Given the description of an element on the screen output the (x, y) to click on. 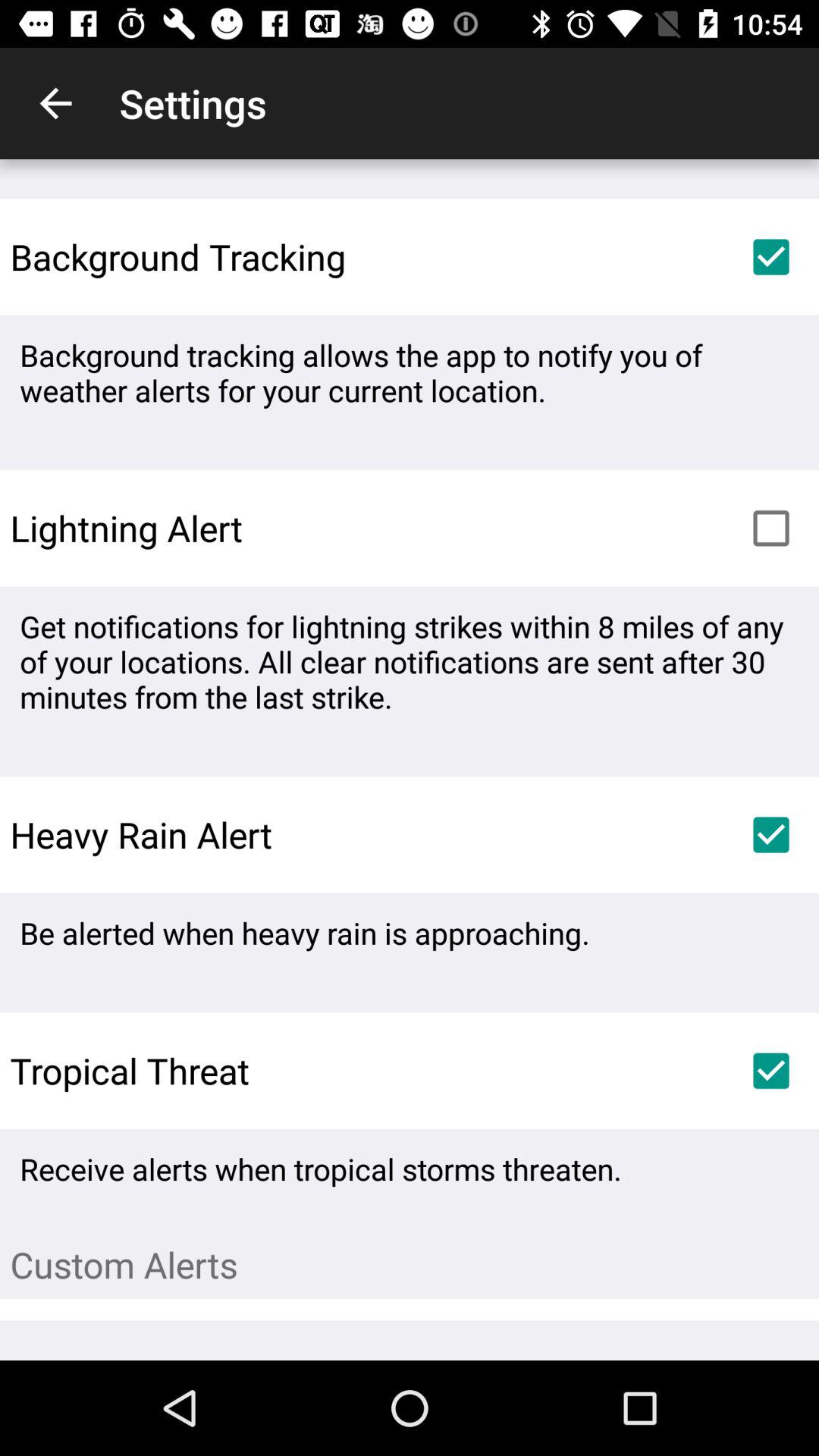
turn on item below the custom alerts item (771, 1340)
